Given the description of an element on the screen output the (x, y) to click on. 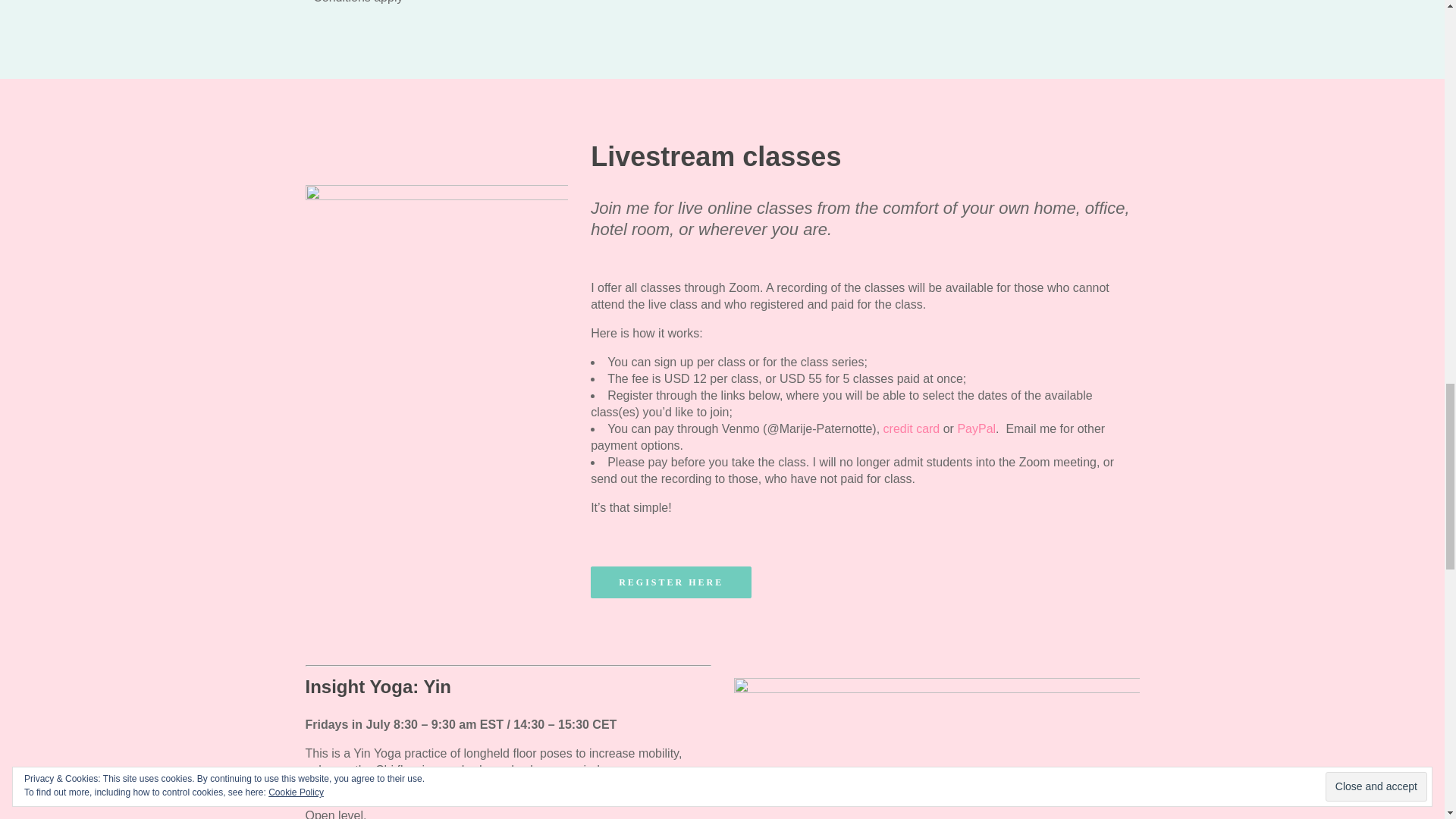
REGISTER HERE (671, 582)
credit card (911, 428)
PayPal (975, 428)
